Given the description of an element on the screen output the (x, y) to click on. 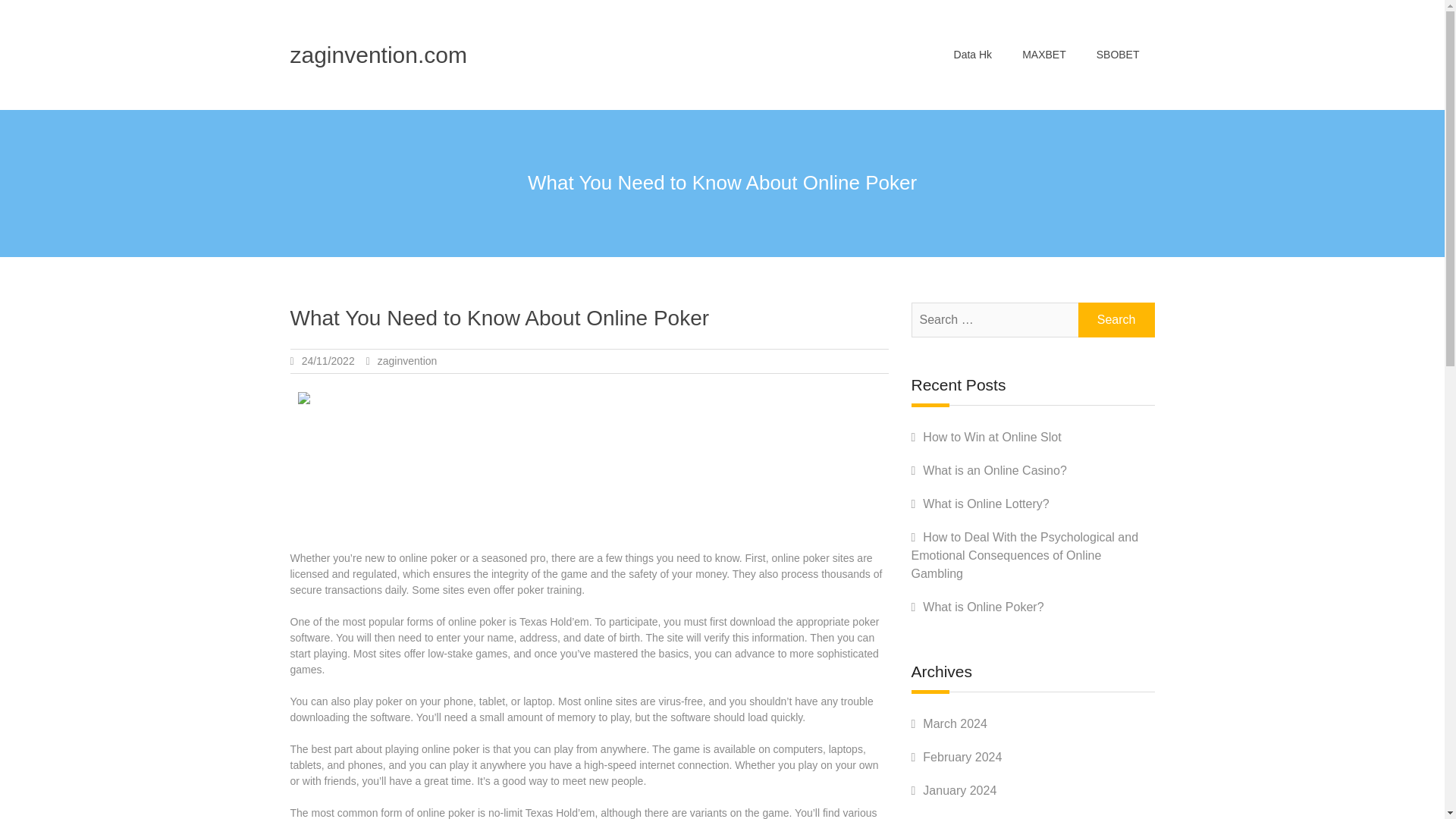
MAXBET (1044, 55)
January 2024 (959, 789)
Search (1116, 319)
How to Win at Online Slot (992, 436)
What is Online Poker? (983, 606)
zaginvention (407, 360)
Search (1116, 319)
SBOBET (1117, 55)
March 2024 (955, 723)
